Given the description of an element on the screen output the (x, y) to click on. 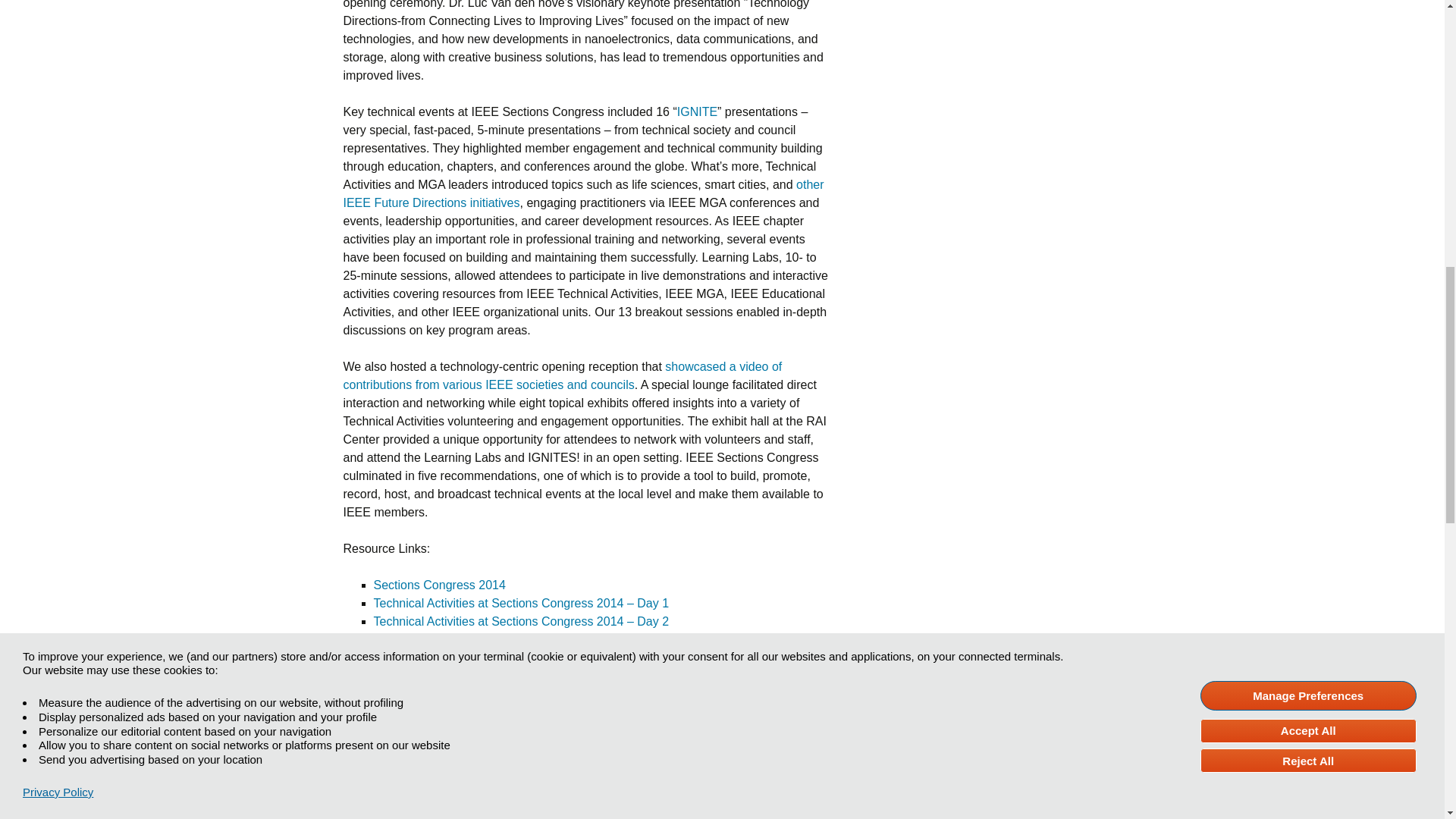
1 Comment (382, 739)
Sections Congress (540, 723)
Feature Articles (413, 723)
Sections Congress 2014 (438, 584)
IGNITE (697, 111)
other IEEE Future Directions initiatives (583, 193)
People (473, 723)
